Given the description of an element on the screen output the (x, y) to click on. 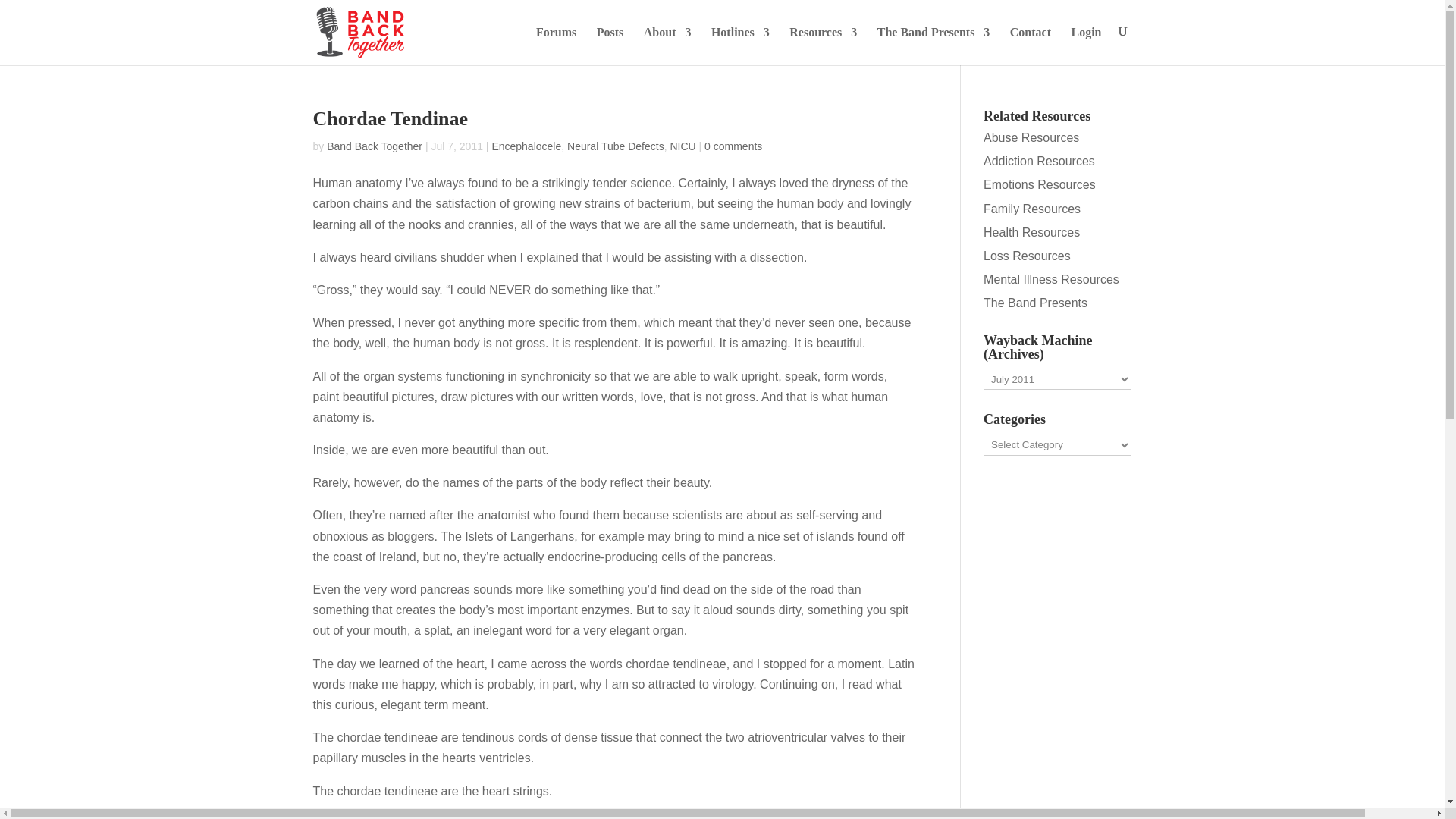
Forums (555, 45)
About (667, 45)
Posts by Band Back Together (374, 146)
Resources (823, 45)
Hotlines (740, 45)
